Given the description of an element on the screen output the (x, y) to click on. 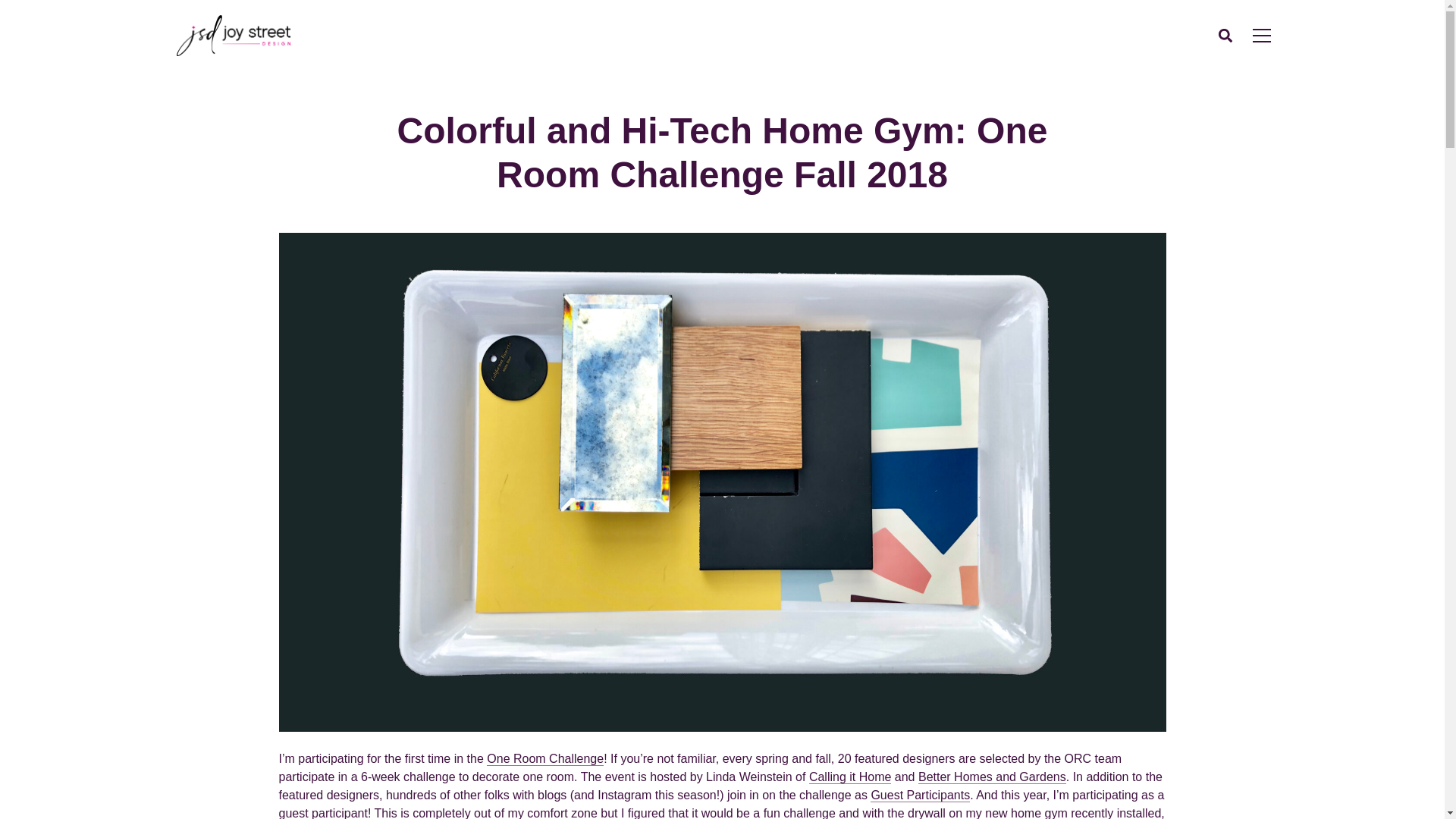
Calling it Home (850, 776)
Better Homes and Gardens (991, 776)
One Room Challenge (545, 758)
Guest Participants (919, 795)
